Given the description of an element on the screen output the (x, y) to click on. 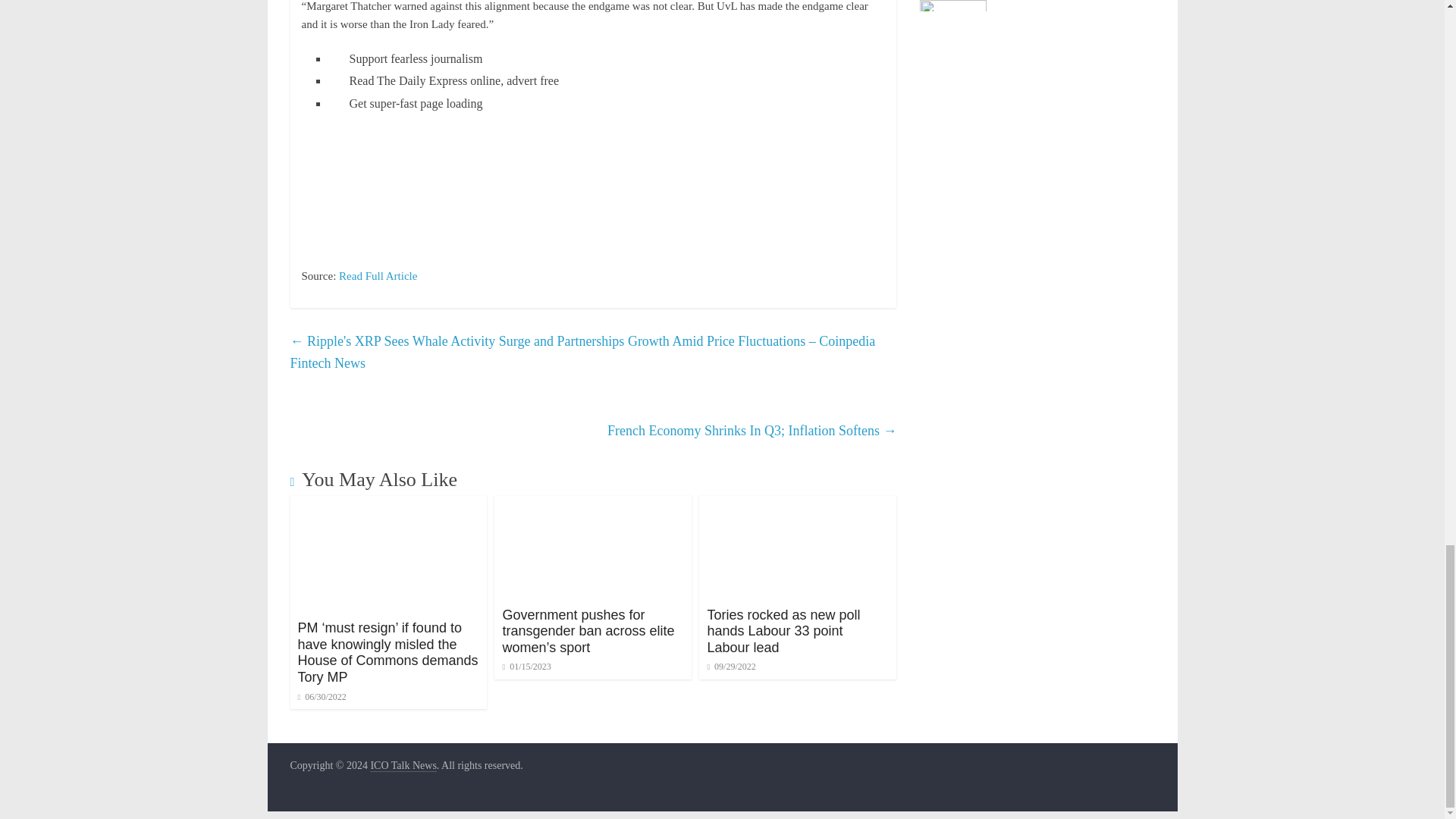
Read Full Article (377, 275)
Tories rocked as new poll hands Labour 33 point Labour lead (783, 631)
10:39 pm (526, 665)
8:42 pm (321, 696)
Tories rocked as new poll hands Labour 33 point Labour lead (783, 631)
Tories rocked as new poll hands Labour 33 point Labour lead (797, 504)
4:58 pm (730, 665)
